Given the description of an element on the screen output the (x, y) to click on. 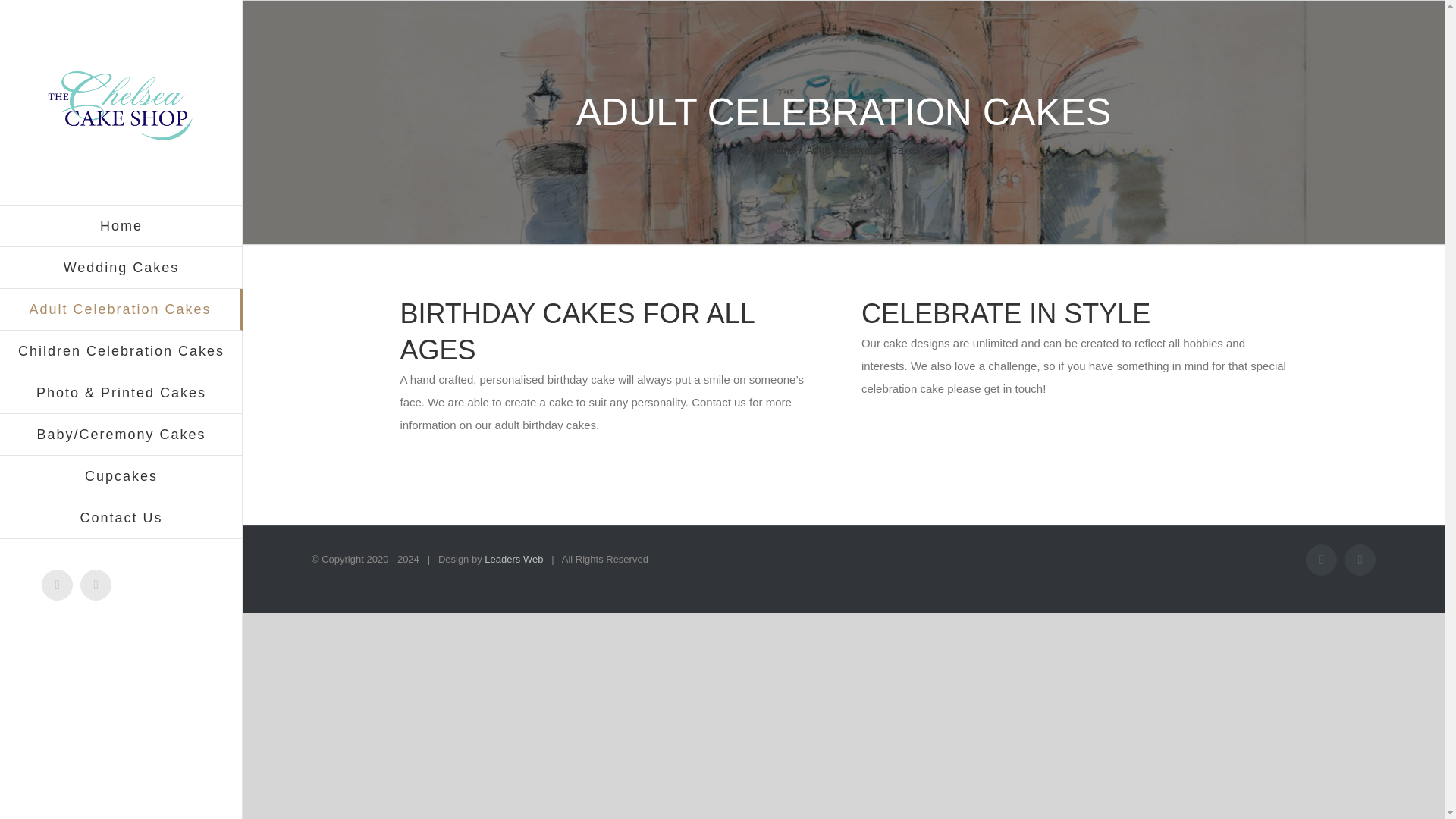
Instagram (96, 584)
Contact Us (121, 517)
Home (121, 225)
Home (780, 150)
Adult Celebration Cakes (121, 309)
Instagram (96, 584)
Cupcakes (121, 476)
Wedding Cakes (121, 268)
Facebook (57, 584)
Children Celebration Cakes (121, 351)
